Given the description of an element on the screen output the (x, y) to click on. 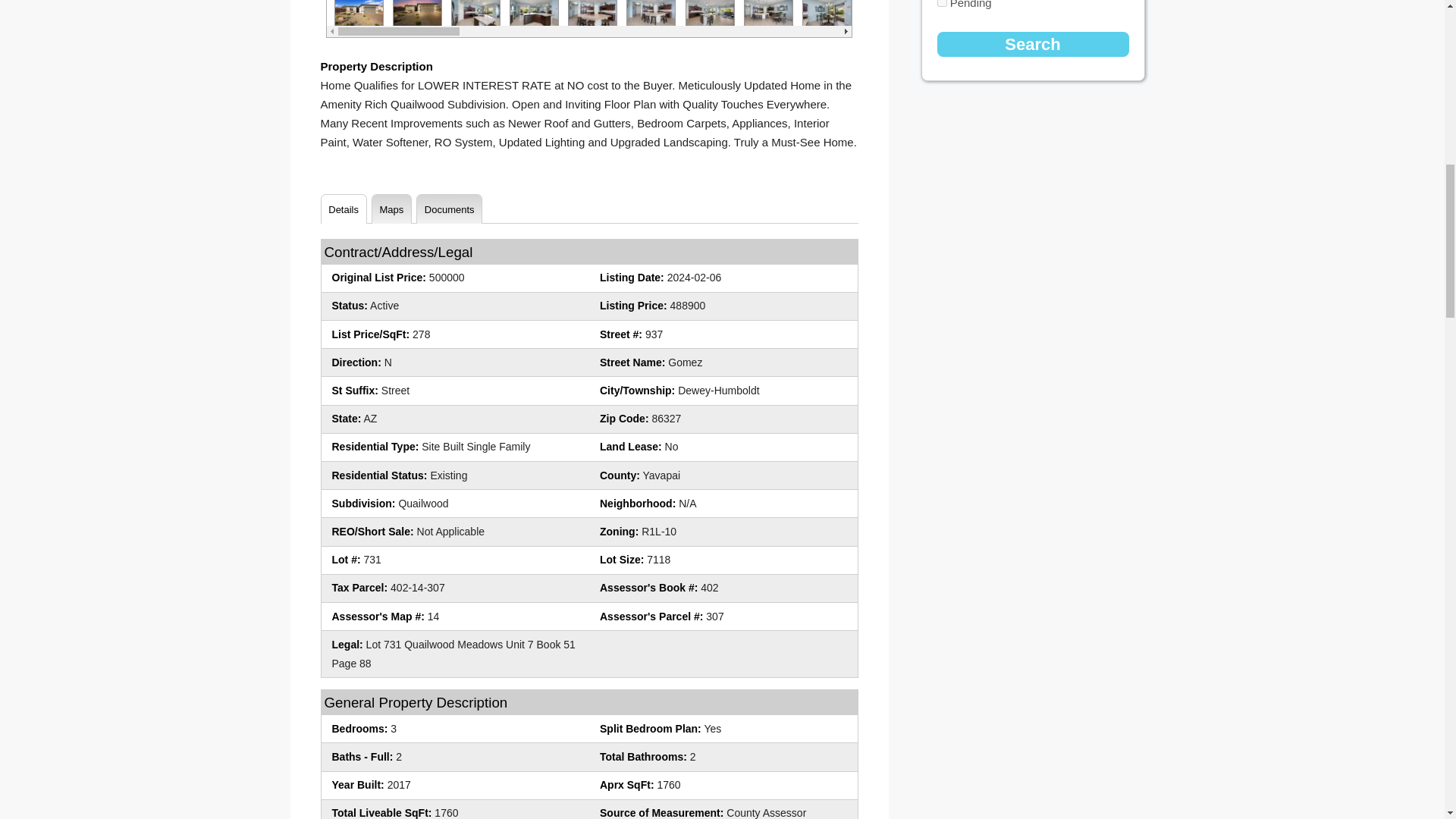
Pending (942, 3)
Search (1033, 43)
Search (1033, 43)
Pending (942, 3)
